Given the description of an element on the screen output the (x, y) to click on. 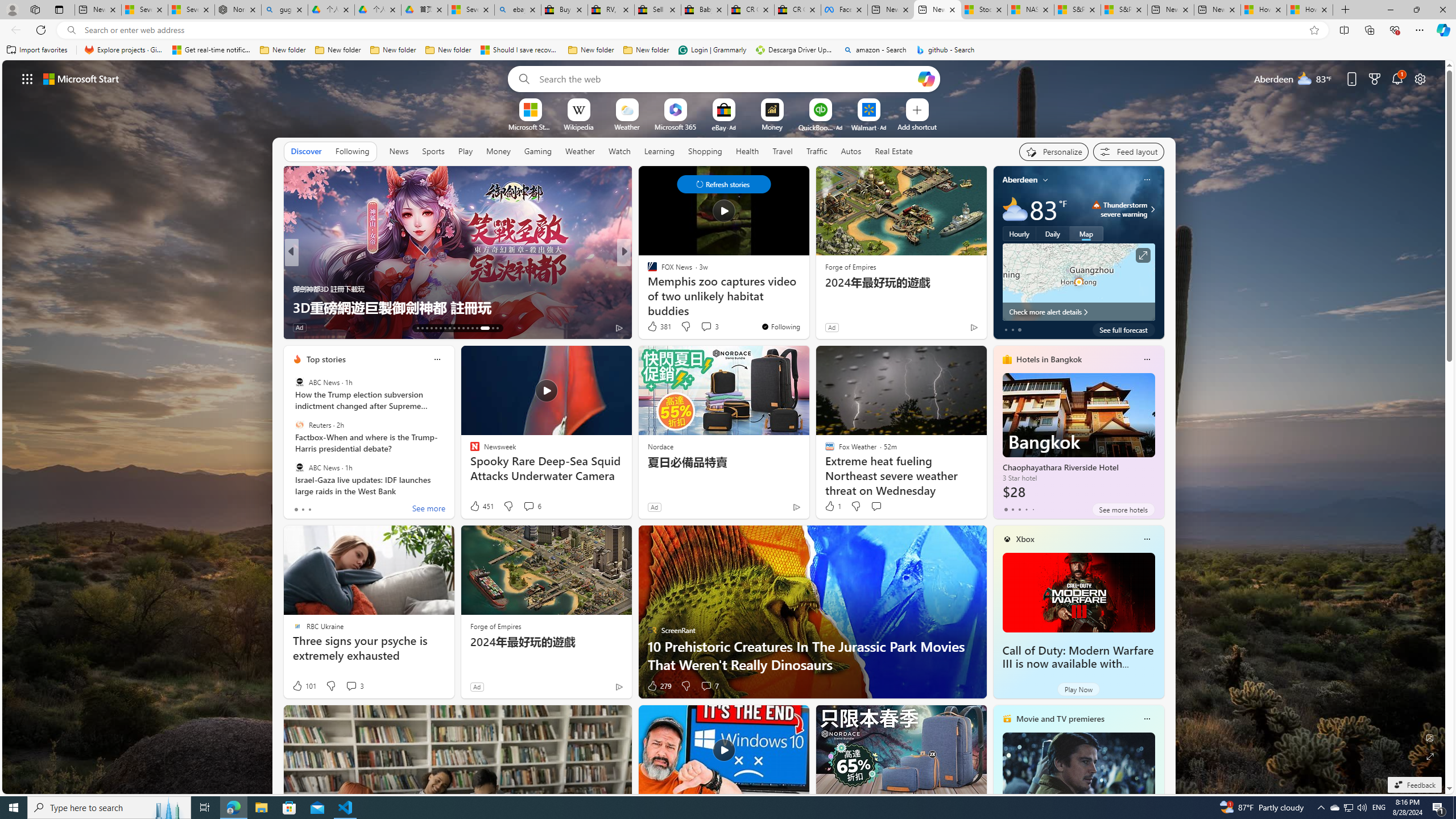
Add a site (916, 126)
Class: control (723, 184)
AutomationID: tab-27 (481, 328)
Favorites bar (728, 49)
Gaming (537, 151)
AutomationID: tab-21 (454, 328)
Class: icon-img (1146, 718)
Xbox (1025, 538)
Mostly cloudy (1014, 208)
